Given the description of an element on the screen output the (x, y) to click on. 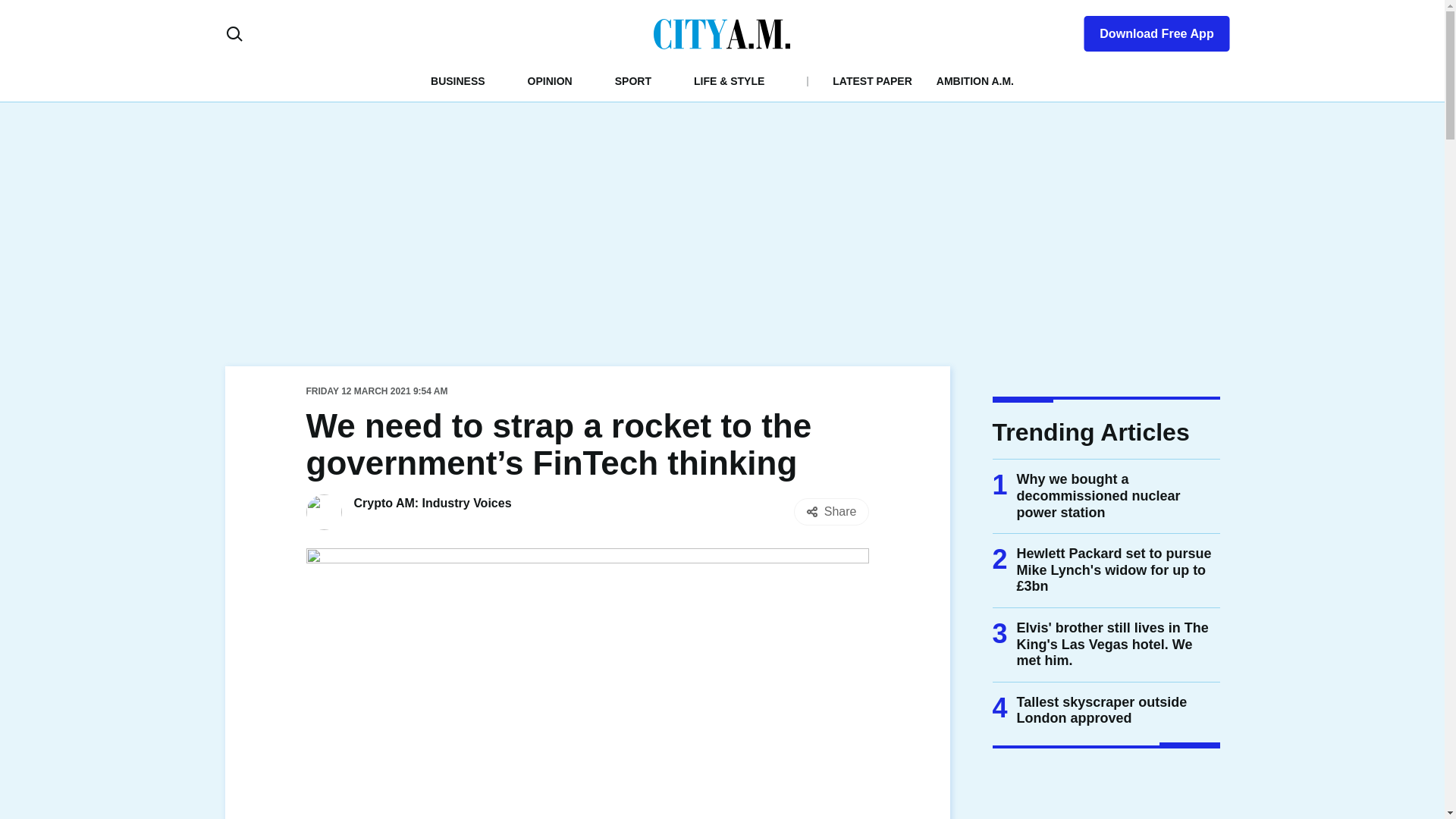
CityAM (721, 33)
SPORT (632, 80)
OPINION (549, 80)
BUSINESS (457, 80)
Download Free App (1146, 30)
